Given the description of an element on the screen output the (x, y) to click on. 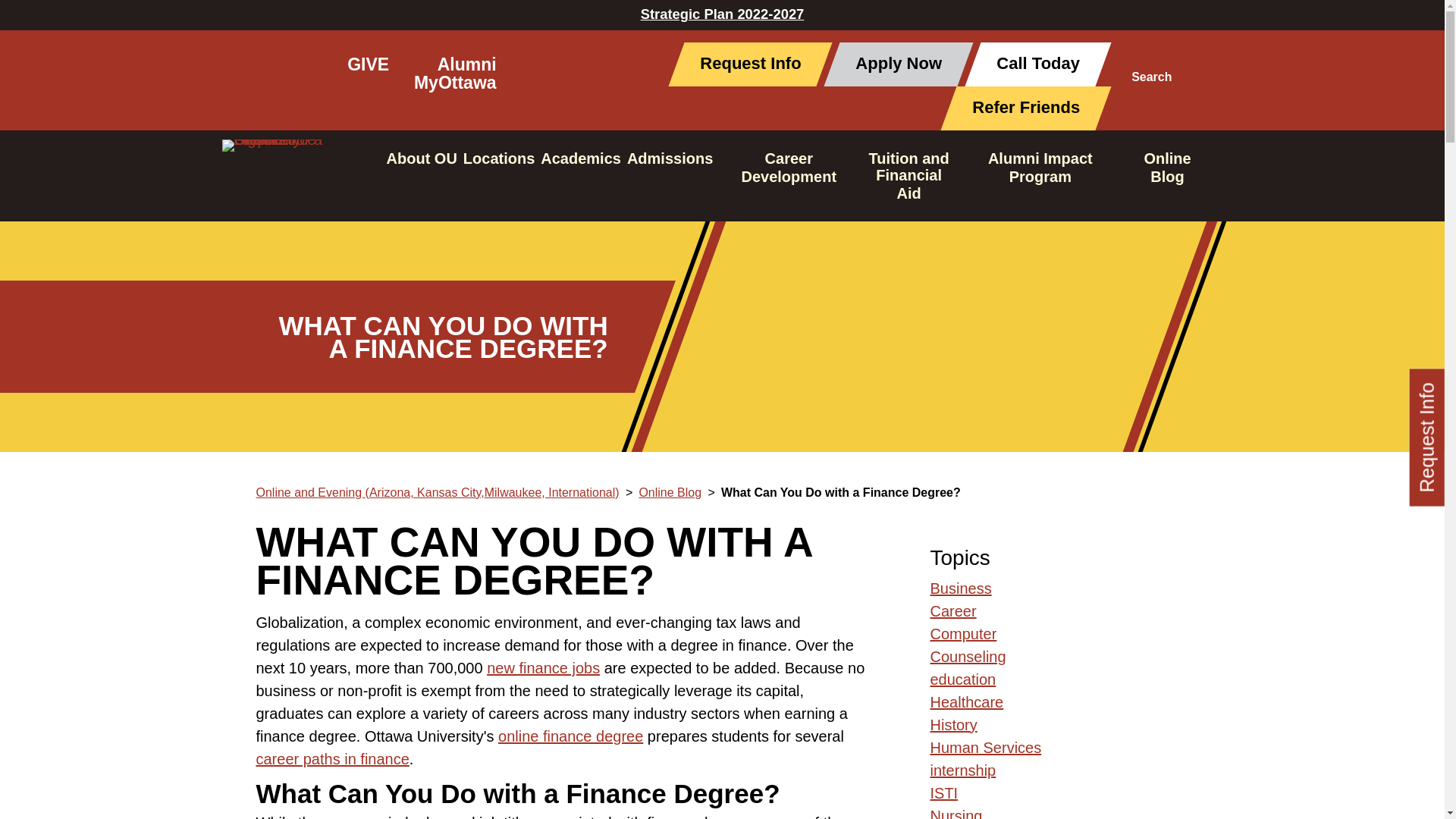
GIVE (367, 64)
Call Today (1028, 64)
Refer Friends (1017, 108)
Search (1151, 85)
Request Info (741, 64)
MyOttawa (454, 82)
Apply Now (890, 64)
Strategic Plan 2022-2027 (722, 13)
Alumni (467, 64)
About OU (422, 158)
